Given the description of an element on the screen output the (x, y) to click on. 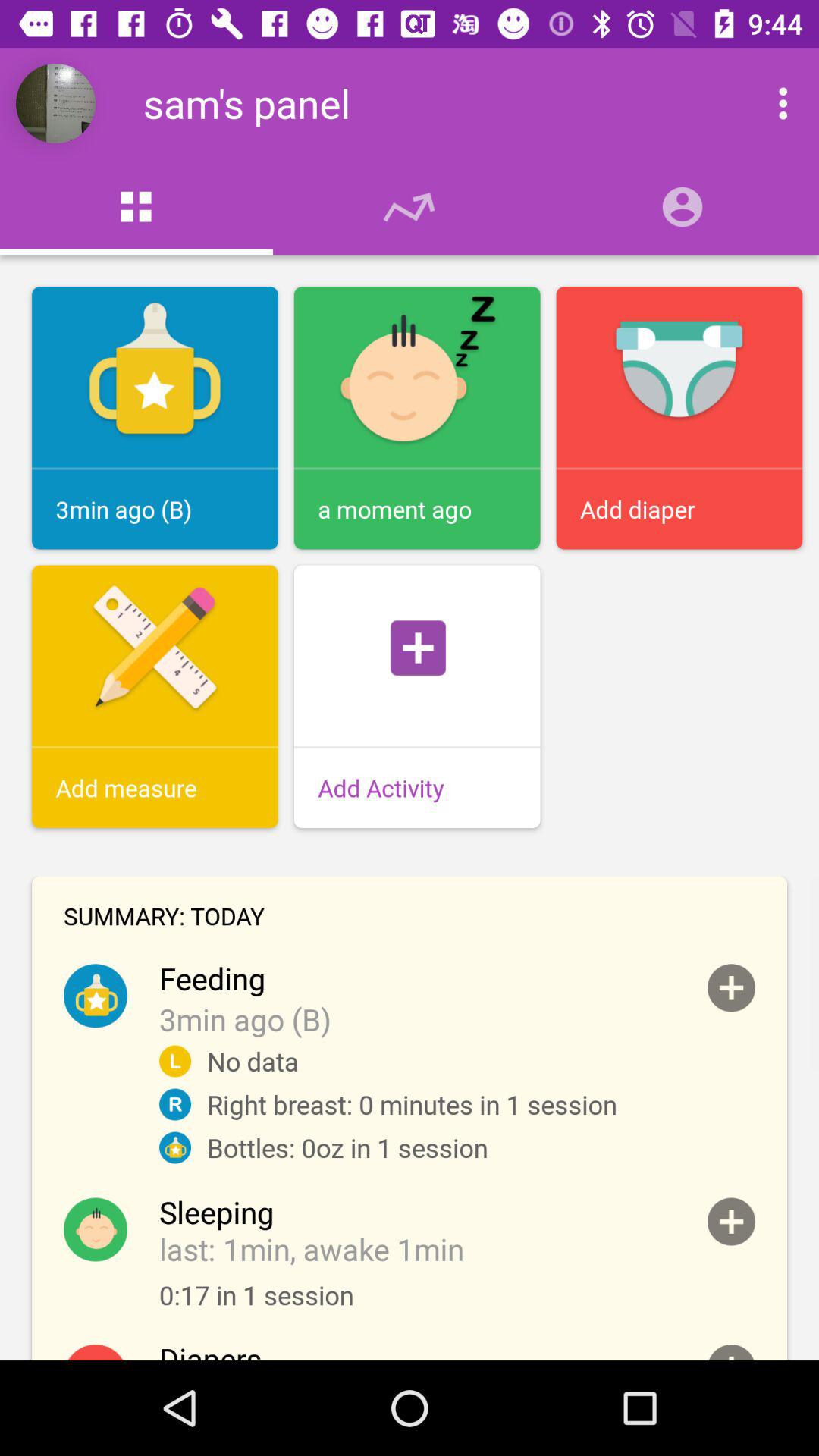
view more options (767, 103)
